Given the description of an element on the screen output the (x, y) to click on. 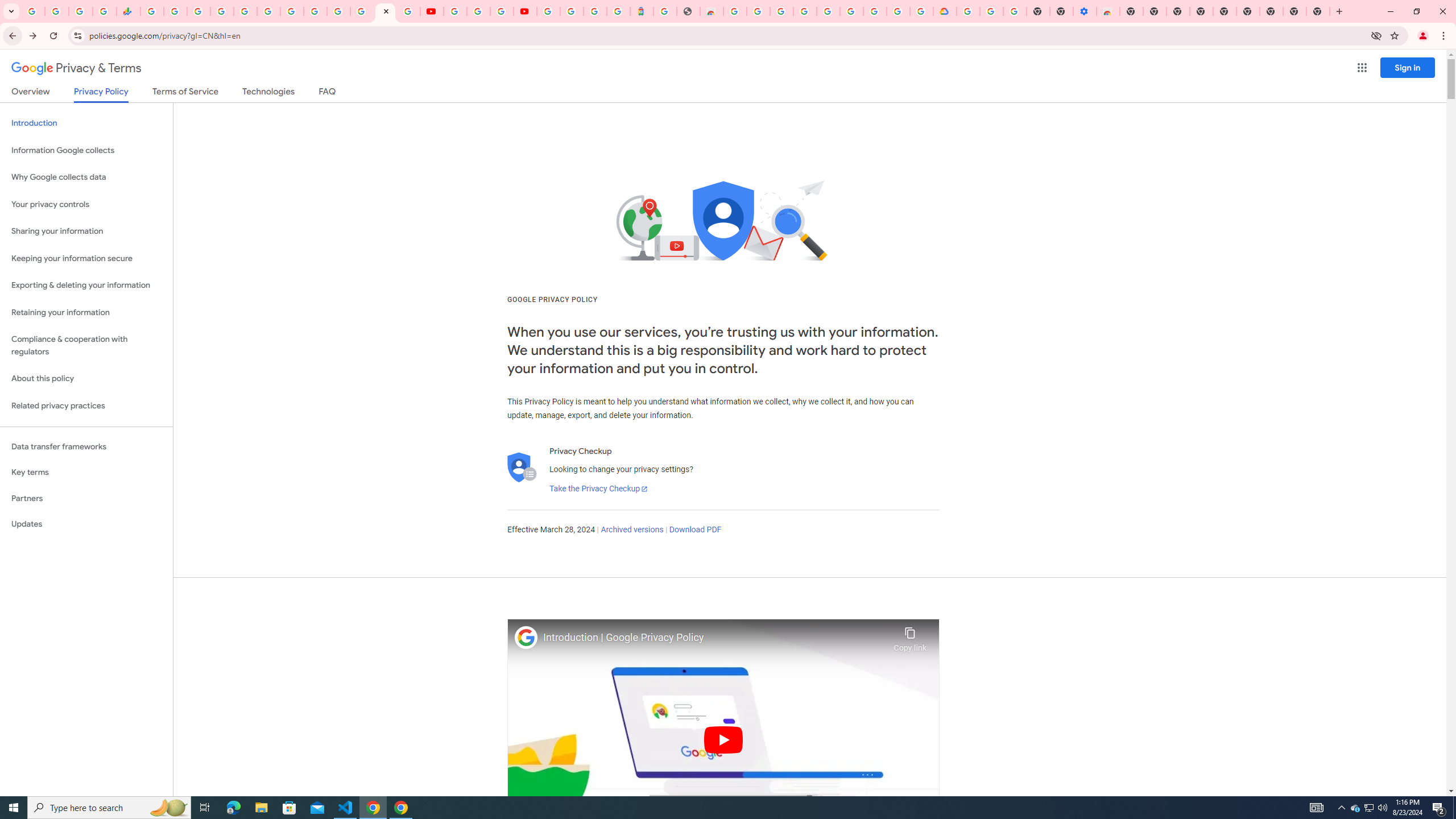
Retaining your information (86, 312)
Ad Settings (804, 11)
Play (723, 739)
Sign in - Google Accounts (571, 11)
Google Account Help (850, 11)
Related privacy practices (86, 405)
Updates (86, 524)
Turn cookies on or off - Computer - Google Account Help (1015, 11)
Chrome Web Store - Accessibility extensions (1108, 11)
